Given the description of an element on the screen output the (x, y) to click on. 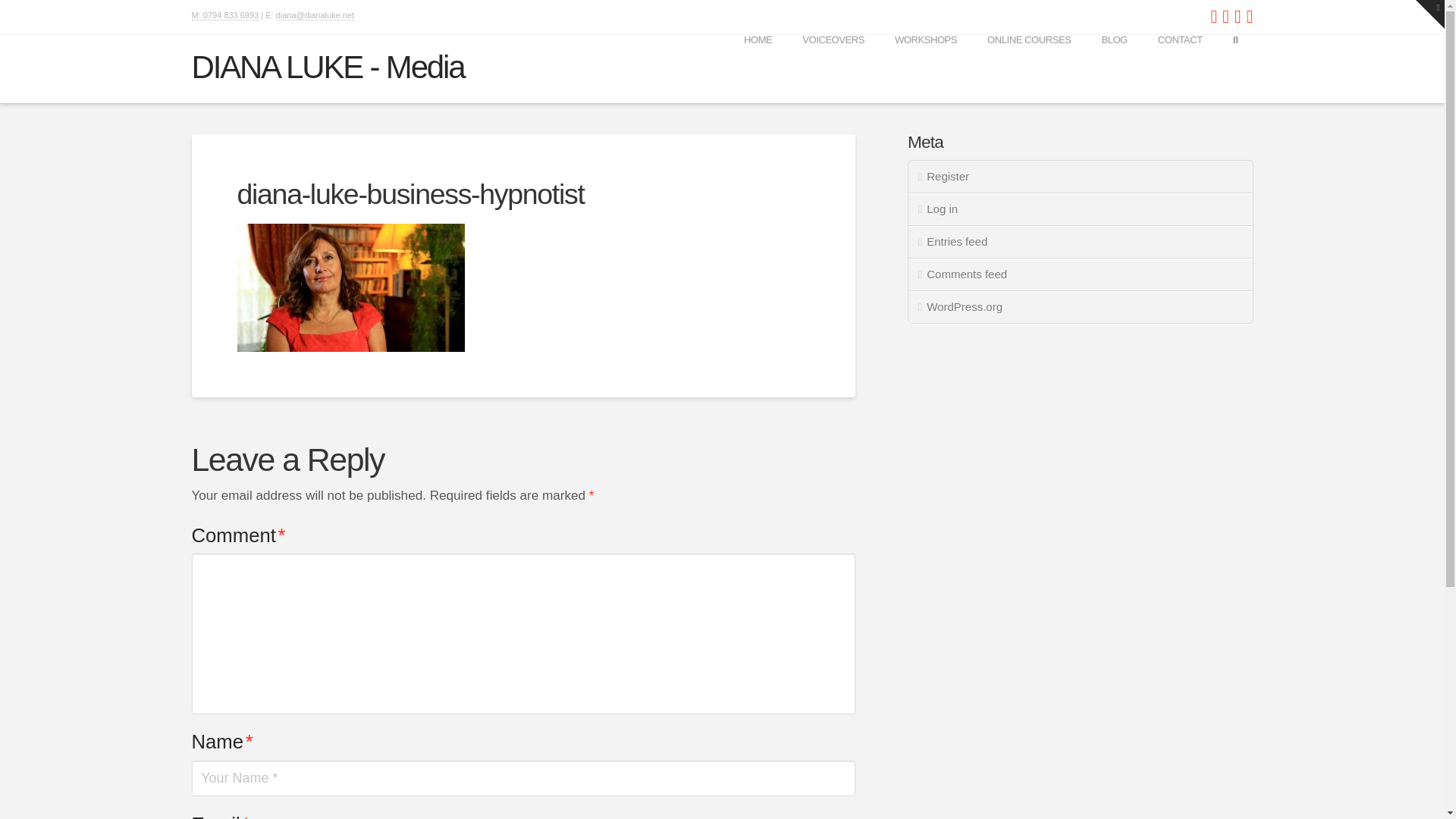
ONLINE COURSES (1029, 69)
WORKSHOPS (925, 69)
Log in (1080, 209)
WordPress.org (1080, 307)
Comments feed (1080, 274)
CONTACT (1179, 69)
Register (1080, 176)
Entries feed (1080, 242)
DIANA LUKE - Media (327, 67)
M: 0794 833 6993 (224, 15)
VOICEOVERS (833, 69)
